Given the description of an element on the screen output the (x, y) to click on. 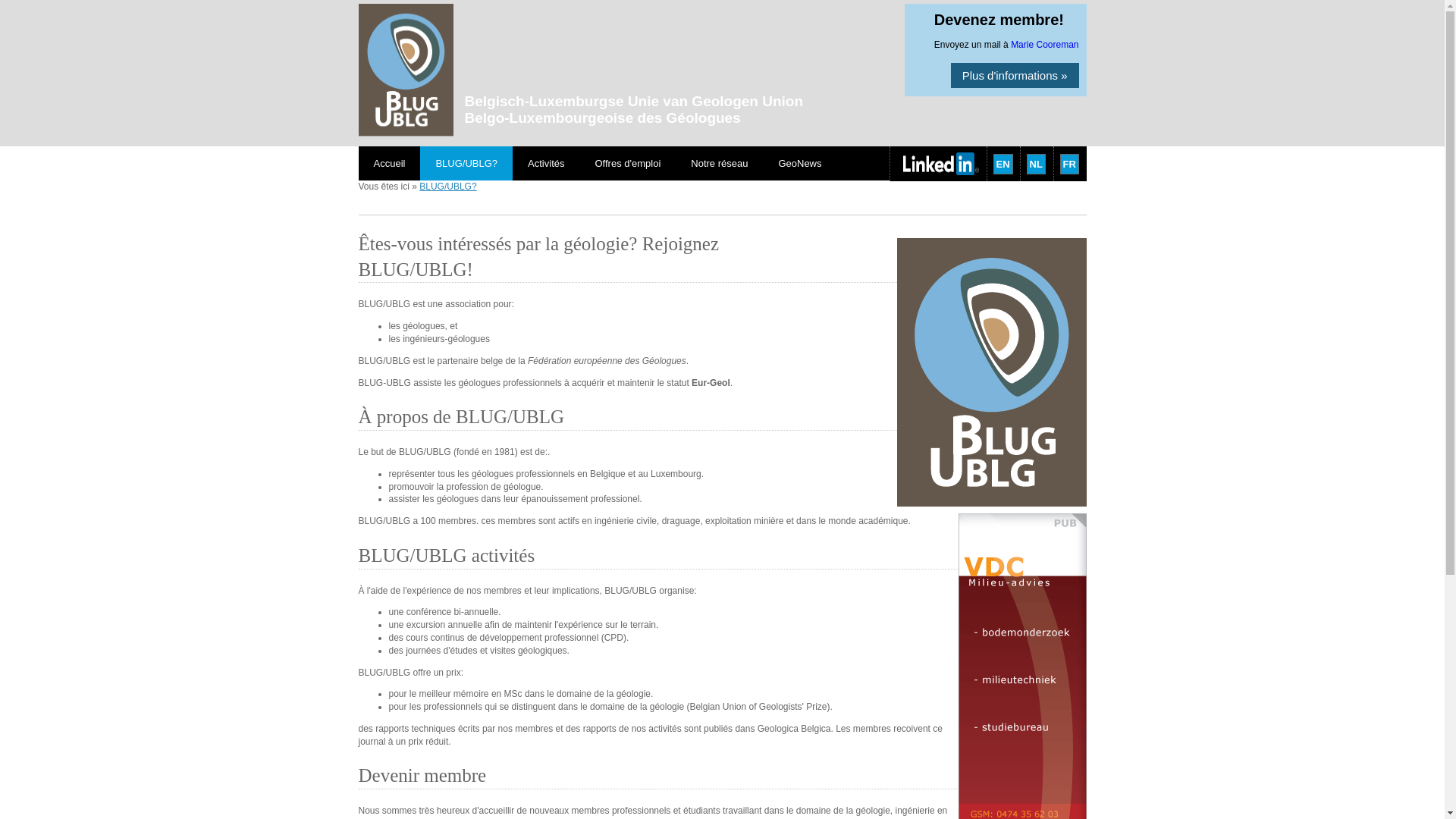
BLUG/UBLG? Element type: text (447, 186)
BLUG/UBLG? Element type: text (466, 163)
GeoNews Element type: text (799, 163)
FR Element type: text (1069, 163)
Accueil Element type: text (388, 163)
NL Element type: text (1035, 163)
Offres d'emploi Element type: text (627, 163)
EN Element type: text (1003, 163)
Marie Cooreman Element type: text (1044, 44)
Eur-Geol Element type: text (710, 382)
